Given the description of an element on the screen output the (x, y) to click on. 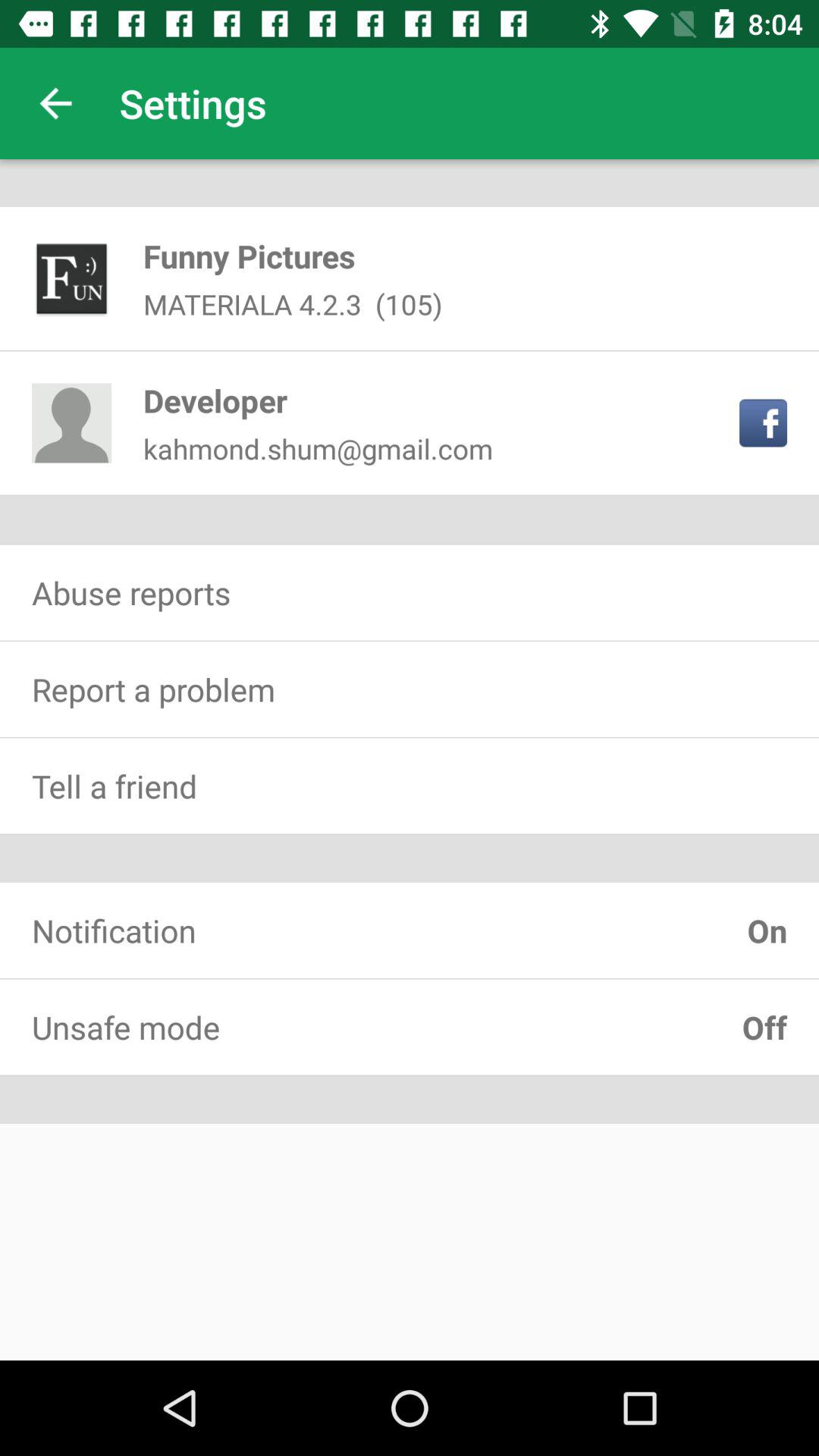
swipe until report a problem (409, 689)
